Given the description of an element on the screen output the (x, y) to click on. 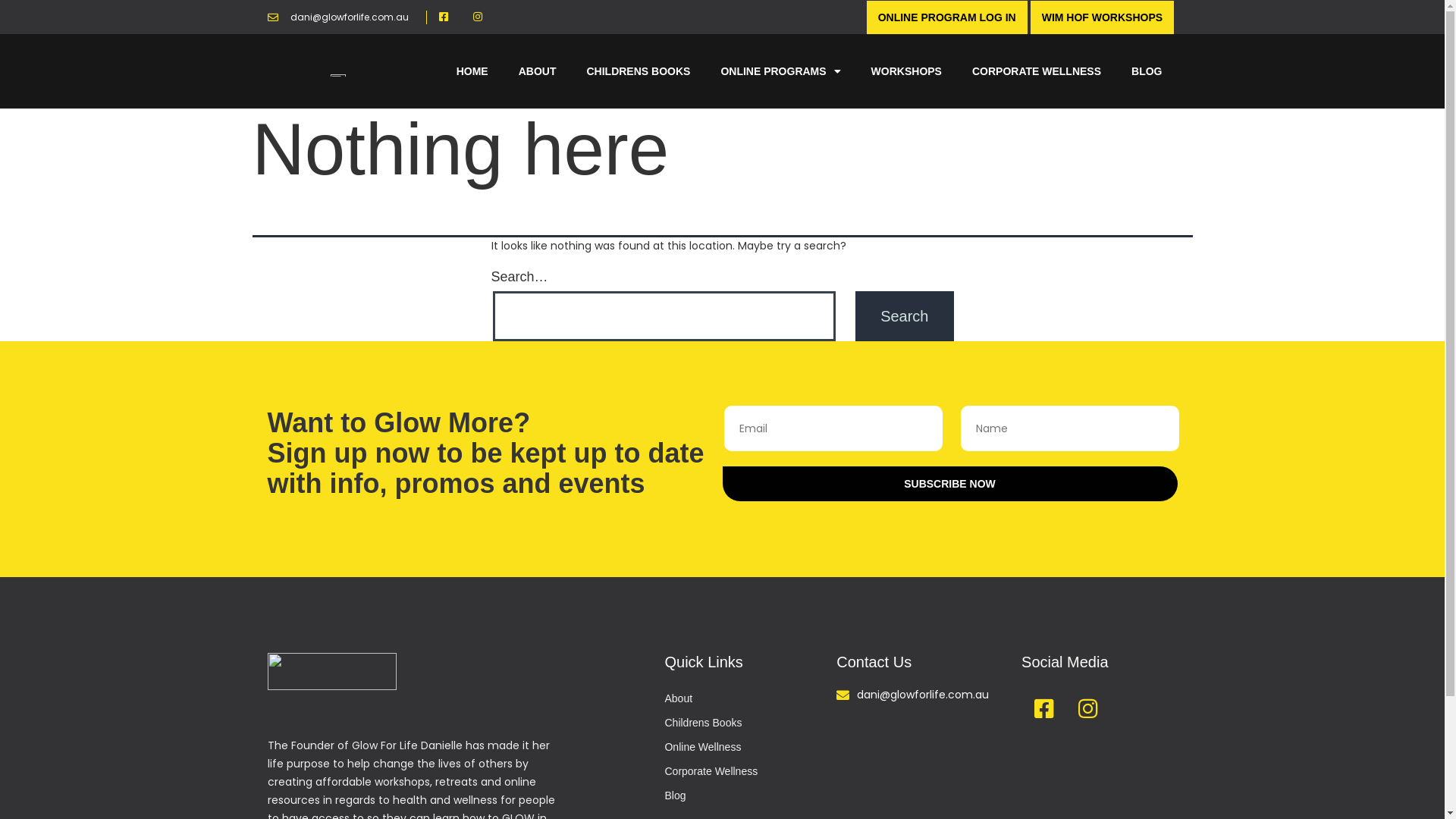
ABOUT Element type: text (537, 71)
dani@glowforlife.com.au Element type: text (928, 694)
WIM HOF WORKSHOPS Element type: text (1101, 16)
Corporate Wellness Element type: text (750, 771)
Online Wellness Element type: text (750, 746)
HOME Element type: text (472, 71)
ONLINE PROGRAMS Element type: text (780, 71)
CORPORATE WELLNESS Element type: text (1036, 71)
Childrens Books Element type: text (750, 722)
WORKSHOPS Element type: text (906, 71)
ONLINE PROGRAM LOG IN Element type: text (946, 16)
Subscribe now Element type: text (948, 483)
Blog Element type: text (750, 795)
Search Element type: text (904, 316)
BLOG Element type: text (1146, 71)
CHILDRENS BOOKS Element type: text (638, 71)
About Element type: text (750, 698)
